Given the description of an element on the screen output the (x, y) to click on. 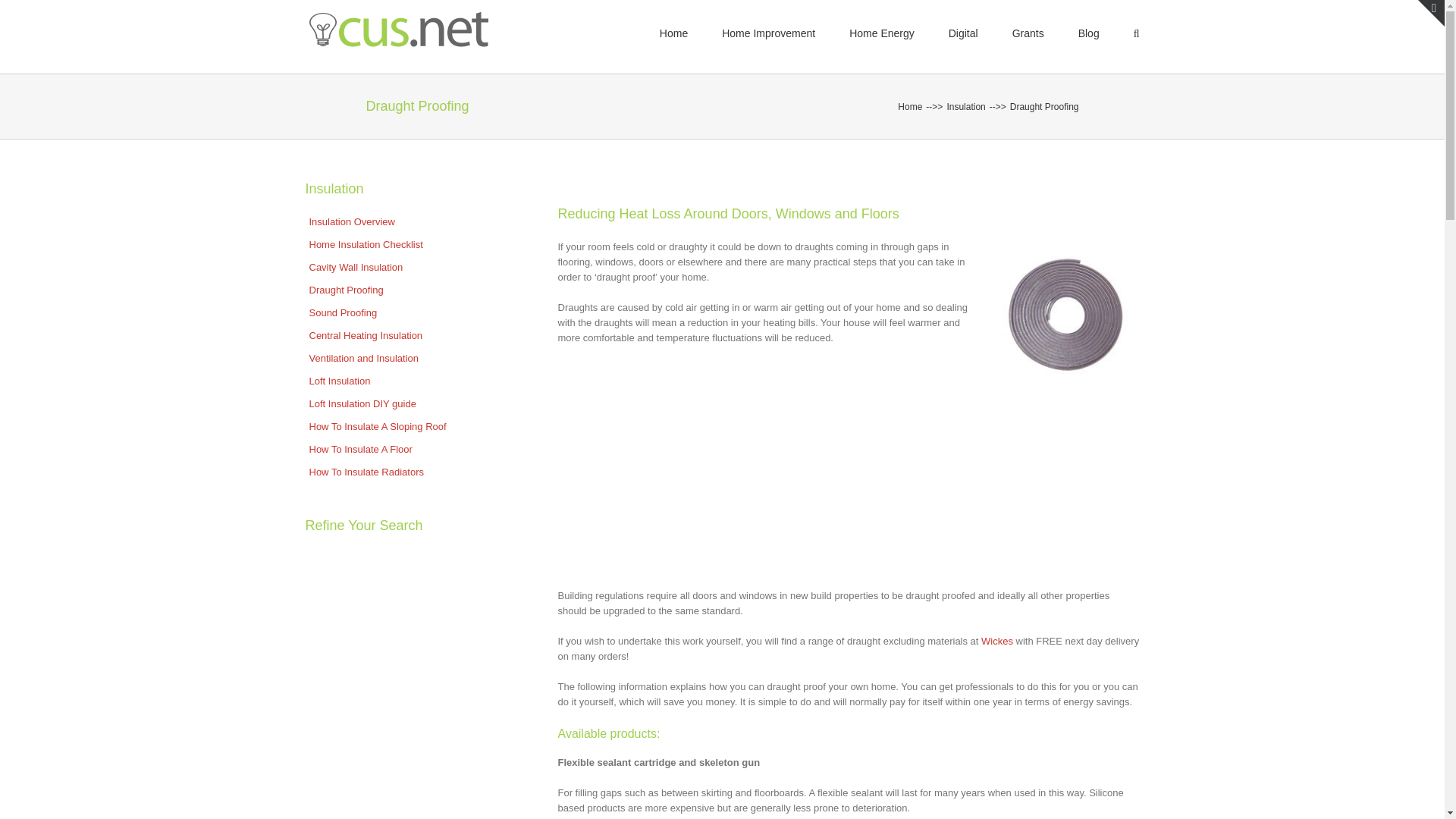
Home (909, 106)
Insulation (965, 106)
Home Energy (881, 32)
Home Improvement (768, 32)
Wickes (998, 641)
Advertisement (848, 500)
